Given the description of an element on the screen output the (x, y) to click on. 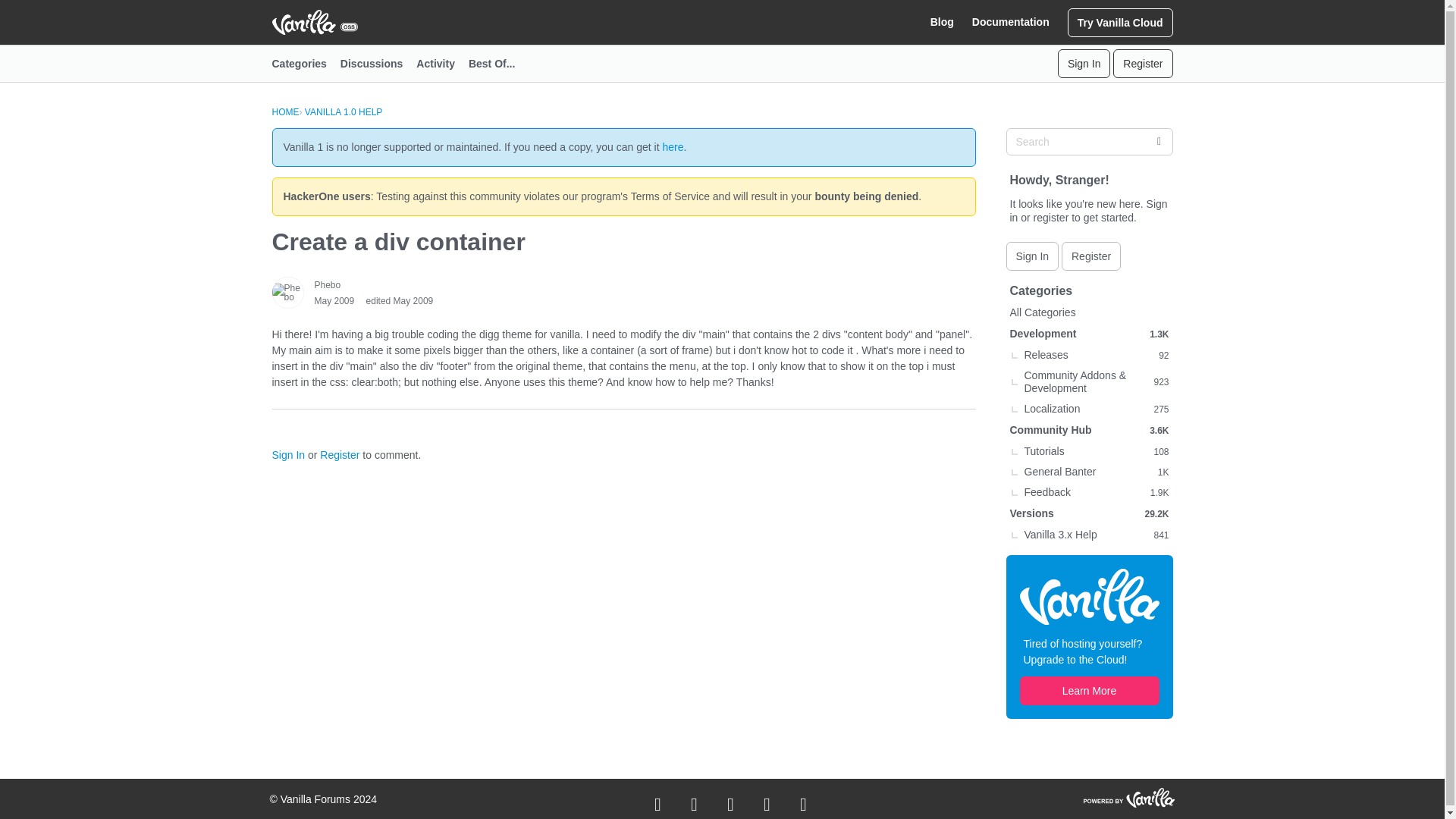
Enter your search term. (1089, 141)
Try Vanilla Cloud (1120, 21)
923 discussions (1161, 382)
Register (339, 454)
275 discussions (1161, 408)
Blog (942, 22)
108 discussions (1161, 450)
Phebo (286, 292)
Discussions (378, 63)
29,182 discussions (1156, 513)
